Given the description of an element on the screen output the (x, y) to click on. 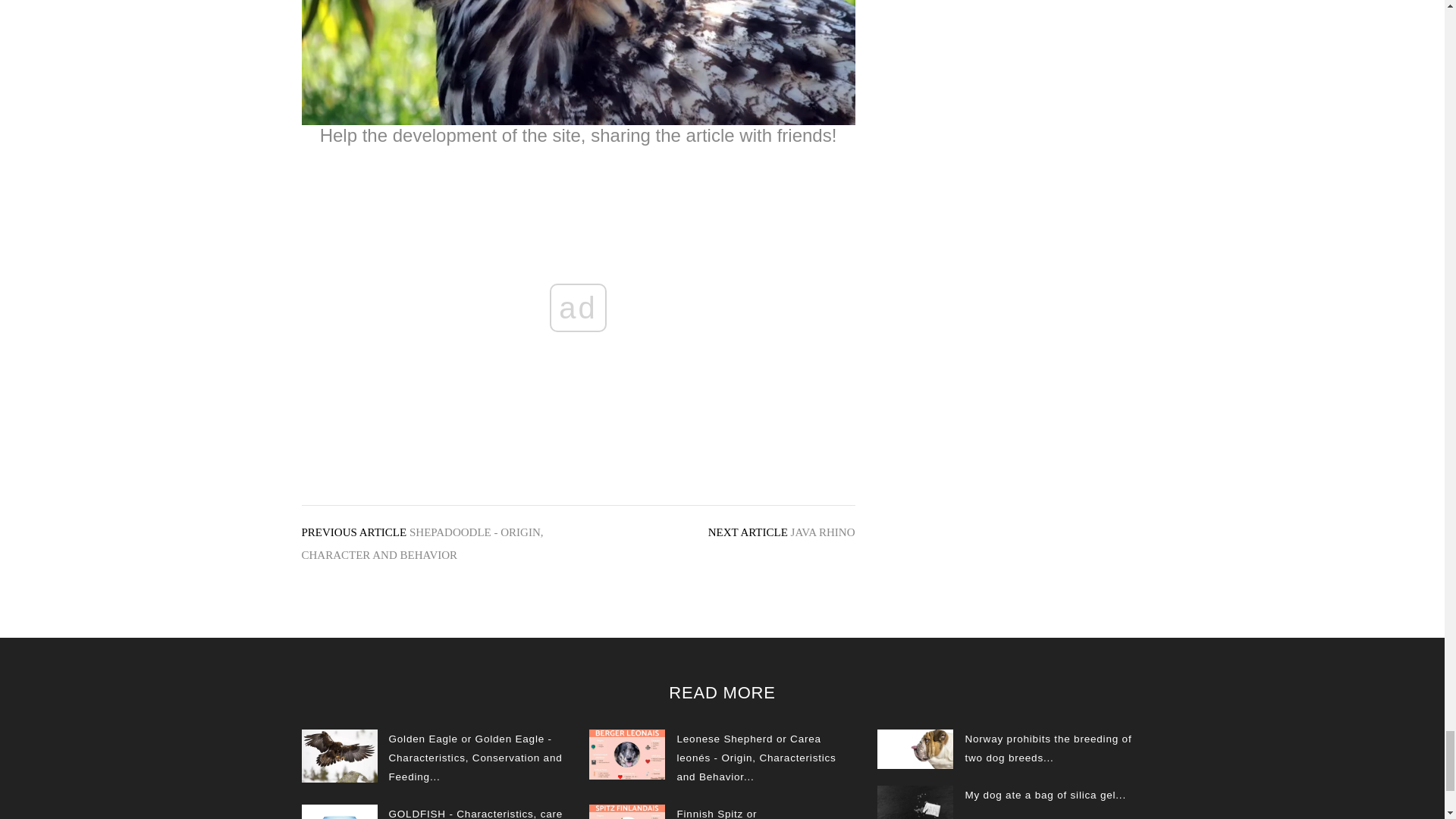
NEXT ARTICLE JAVA RHINO (781, 532)
